Given the description of an element on the screen output the (x, y) to click on. 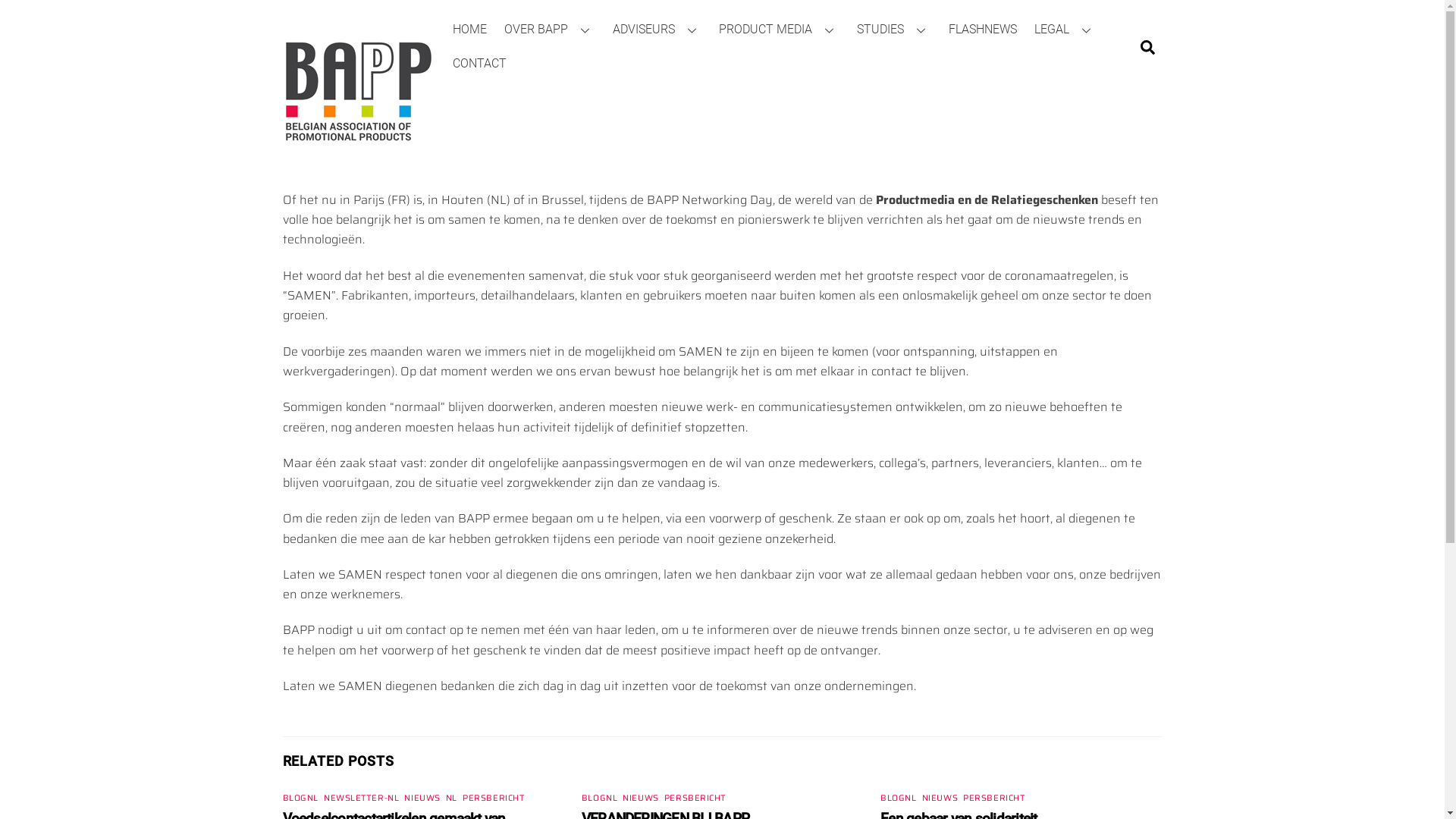
NIEUWS Element type: text (939, 797)
bapplogo Element type: hover (357, 91)
HOME Element type: text (469, 29)
BAPP Element type: hover (357, 160)
STUDIES Element type: text (893, 29)
PERSBERICHT Element type: text (994, 797)
NIEUWS Element type: text (640, 797)
NIEUWS Element type: text (421, 797)
ADVISEURS Element type: text (657, 29)
FLASHNEWS Element type: text (982, 29)
OVER BAPP Element type: text (549, 29)
BLOGNL Element type: text (599, 797)
PRODUCT MEDIA Element type: text (779, 29)
BLOGNL Element type: text (898, 797)
BLOGNL Element type: text (299, 797)
Search Element type: text (1147, 46)
NL Element type: text (451, 797)
NEWSLETTER-NL Element type: text (360, 797)
LEGAL Element type: text (1064, 29)
PERSBERICHT Element type: text (493, 797)
PERSBERICHT Element type: text (695, 797)
CONTACT Element type: text (479, 64)
